Given the description of an element on the screen output the (x, y) to click on. 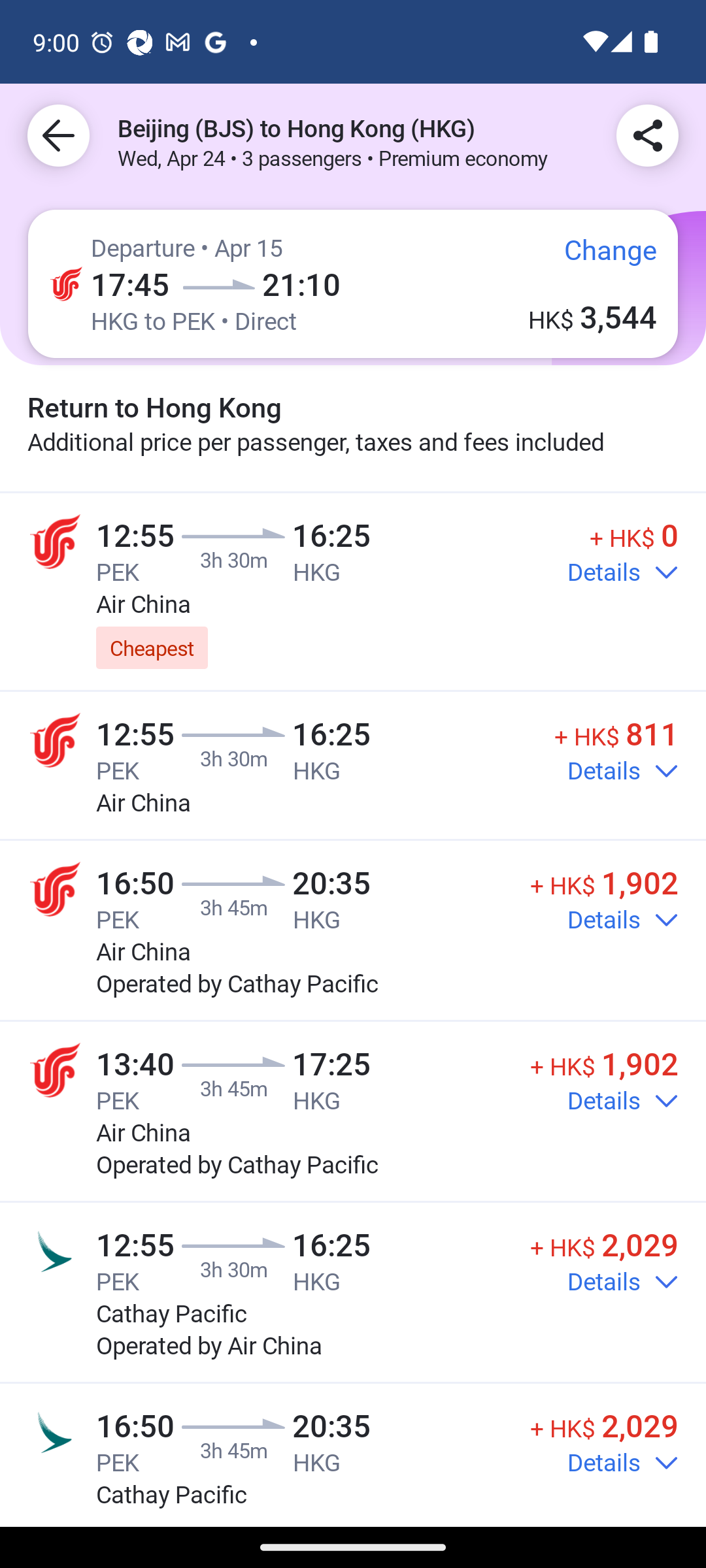
Change (596, 257)
